Given the description of an element on the screen output the (x, y) to click on. 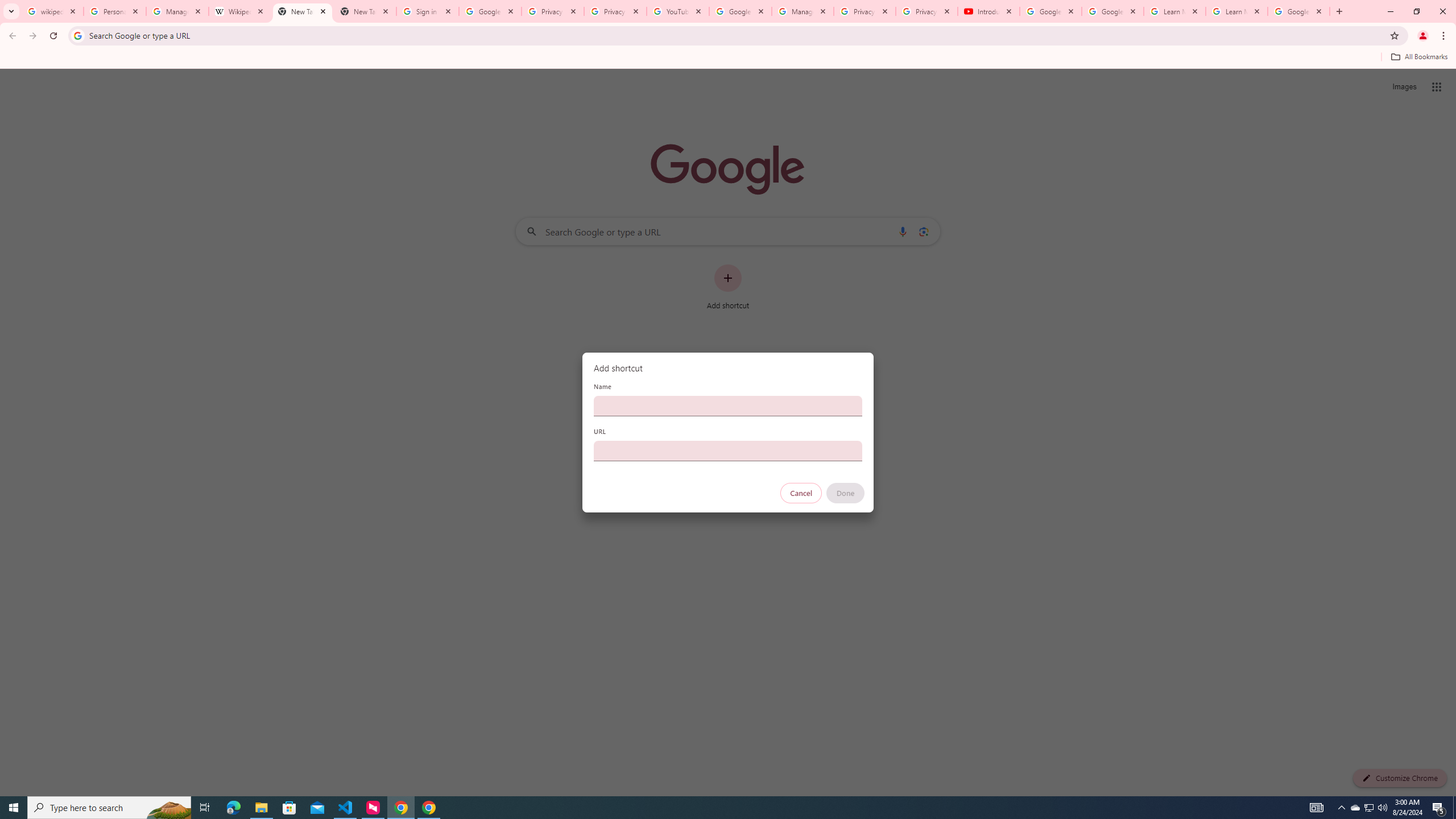
Done (845, 493)
Personalization & Google Search results - Google Search Help (114, 11)
Introduction | Google Privacy Policy - YouTube (988, 11)
Google Account Help (1050, 11)
Wikipedia:Edit requests - Wikipedia (239, 11)
Bookmarks (728, 58)
New Tab (365, 11)
Google Account Help (740, 11)
